Given the description of an element on the screen output the (x, y) to click on. 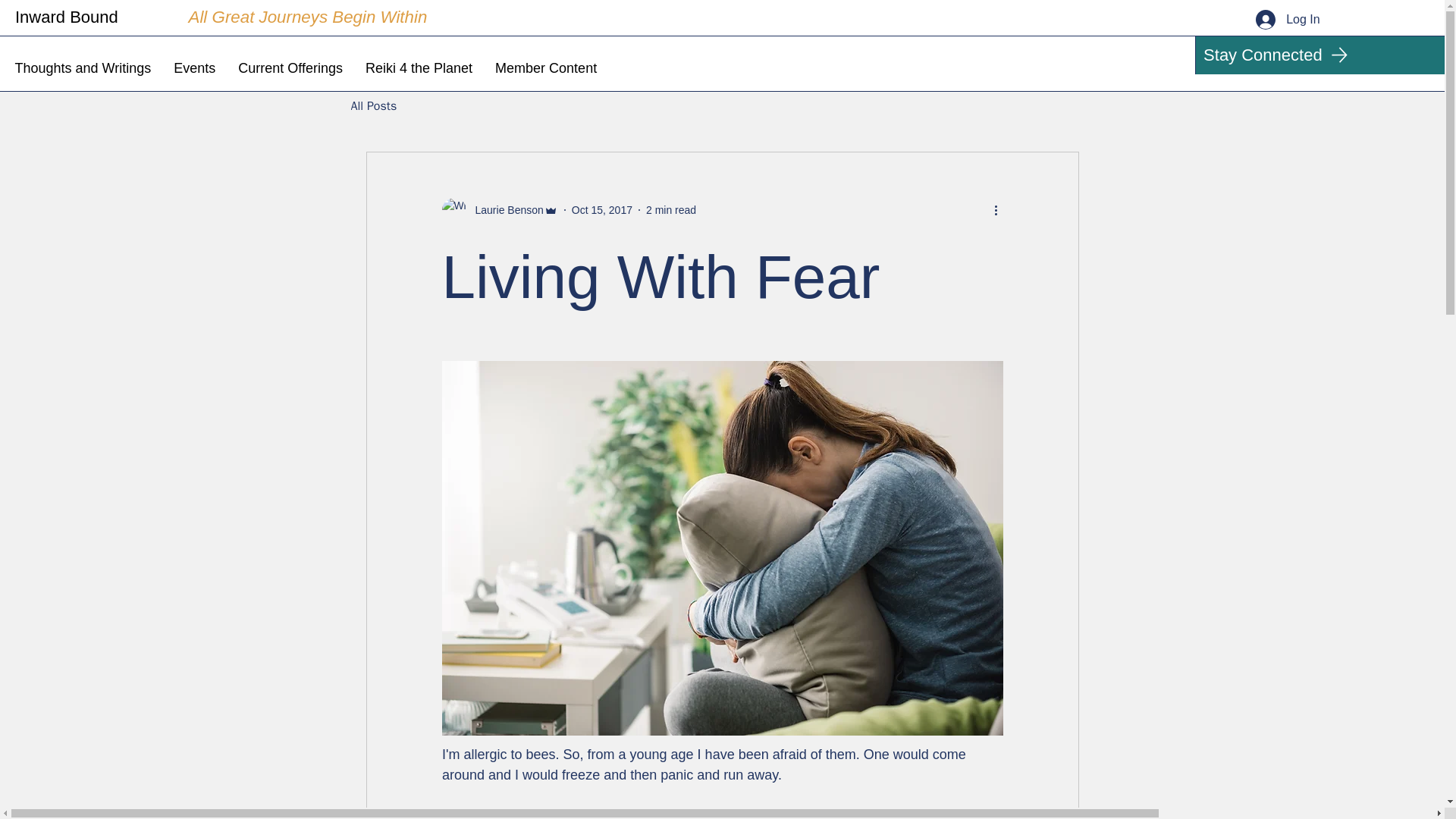
Oct 15, 2017 (601, 209)
Log In (1287, 19)
Member Content (545, 68)
Inward Bound (65, 16)
Reiki 4 the Planet (418, 68)
Thoughts and Writings (81, 68)
Stay Connected (1319, 55)
Laurie Benson (504, 209)
All Posts (373, 106)
Events (194, 68)
Laurie Benson (499, 209)
Current Offerings (290, 68)
2 min read (670, 209)
